Given the description of an element on the screen output the (x, y) to click on. 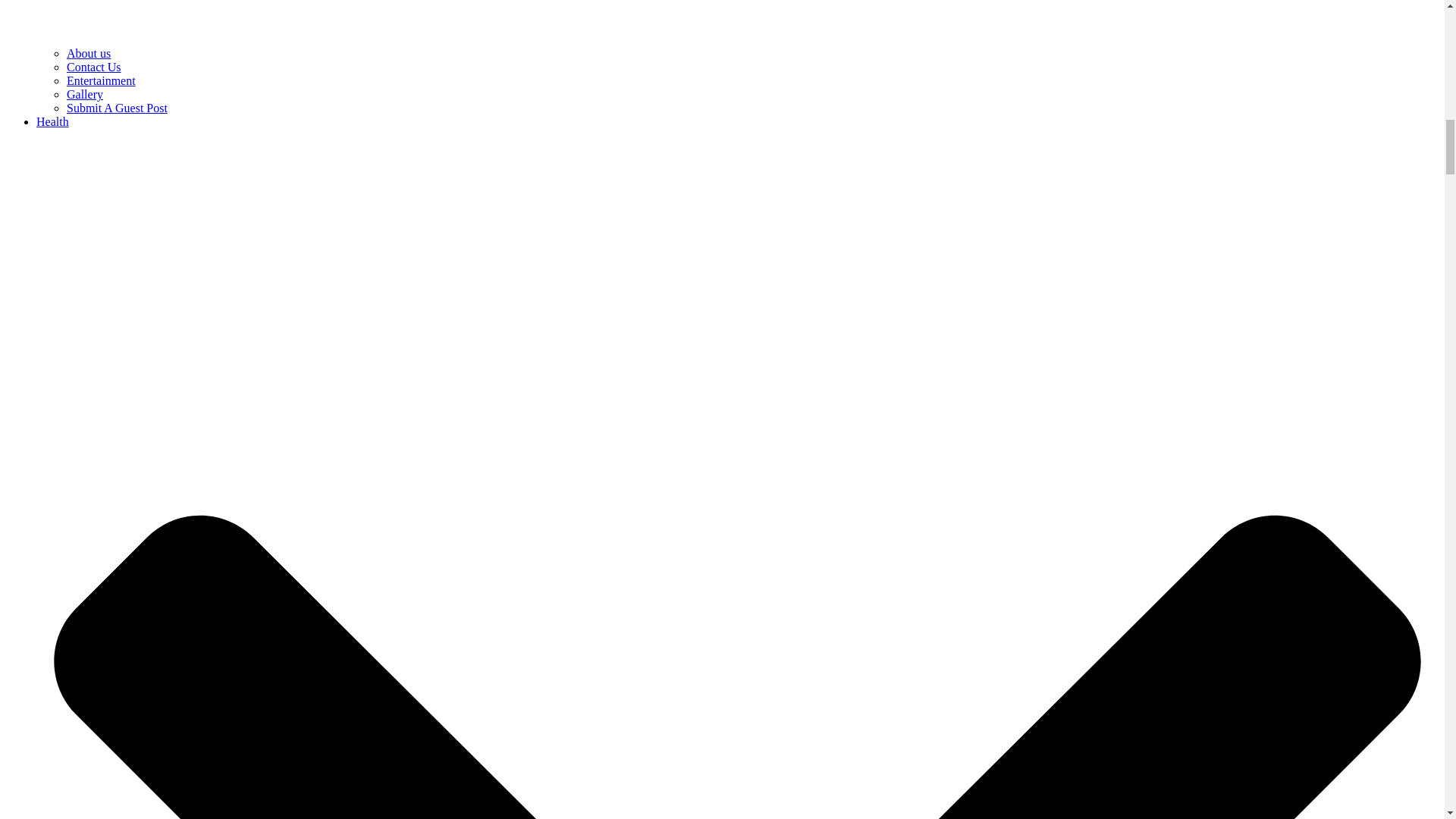
Entertainment (100, 80)
Submit A Guest Post (116, 107)
Contact Us (93, 66)
Gallery (84, 93)
About us (88, 52)
Entertainment (100, 80)
About us (88, 52)
Submit A Guest Post (116, 107)
Gallery (84, 93)
Contact Us (93, 66)
